Given the description of an element on the screen output the (x, y) to click on. 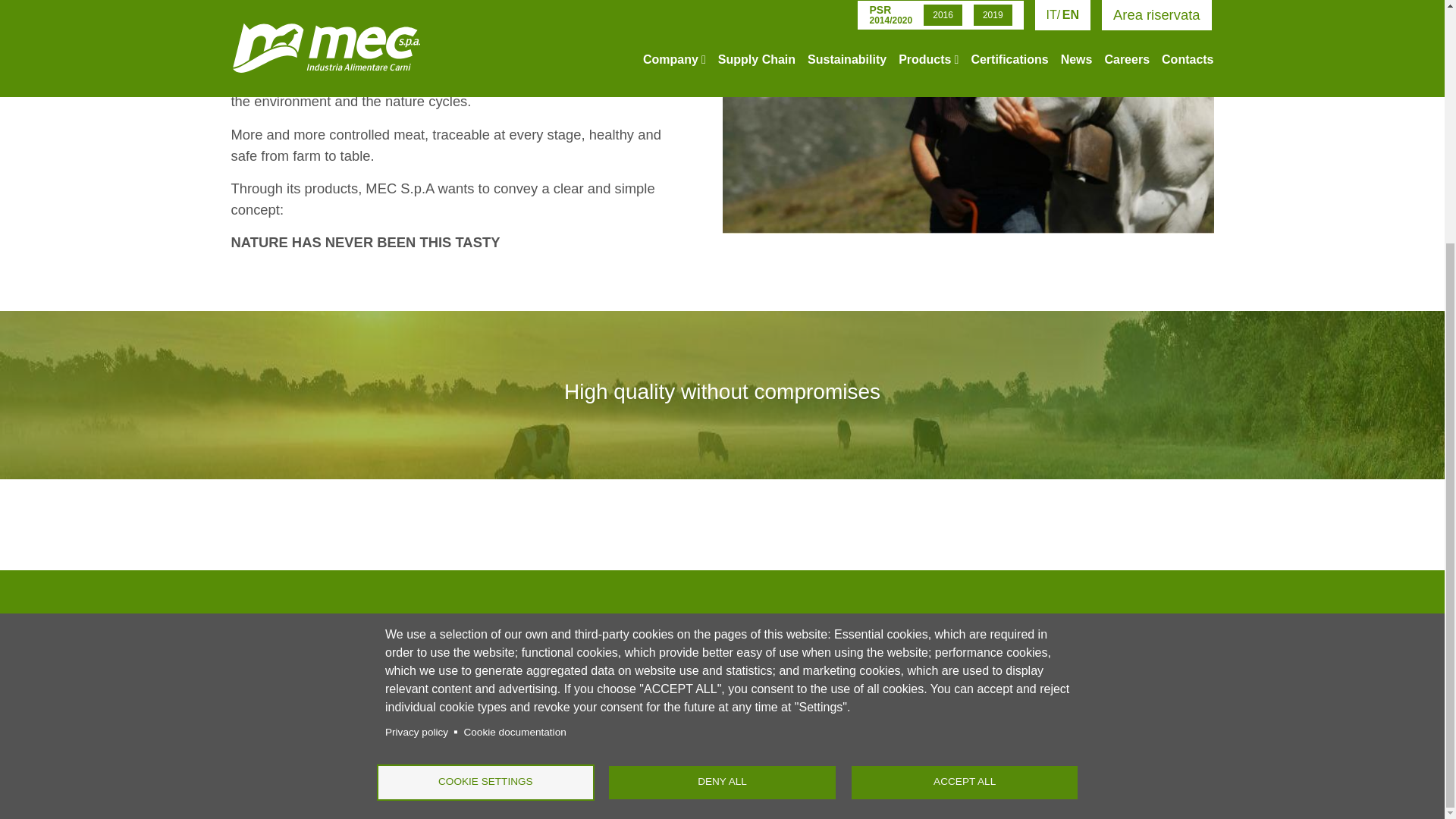
Reserved Area (744, 709)
Contacts (744, 748)
Cookie documentation (514, 394)
Company (744, 650)
Certifications (744, 670)
Privacy policy (416, 394)
ACCEPT ALL (965, 445)
News (744, 690)
Careers (744, 728)
DENY ALL (722, 445)
COOKIE SETTINGS (484, 445)
